Given the description of an element on the screen output the (x, y) to click on. 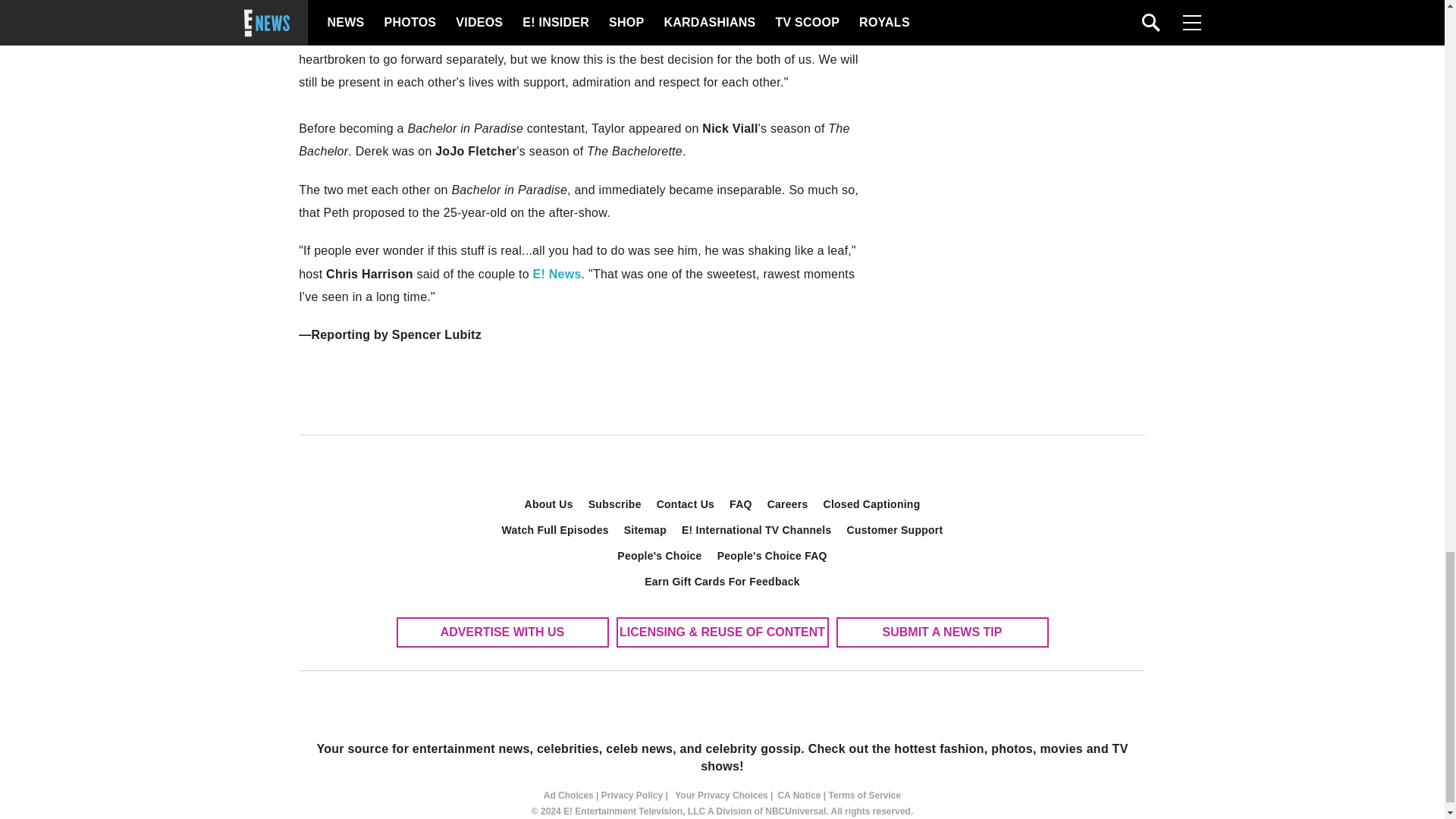
FAQ (741, 503)
exclusively to E! News, saying (568, 12)
E! News (556, 273)
Contact Us (685, 503)
Careers (787, 503)
Subscribe (614, 503)
About Us (548, 503)
